Given the description of an element on the screen output the (x, y) to click on. 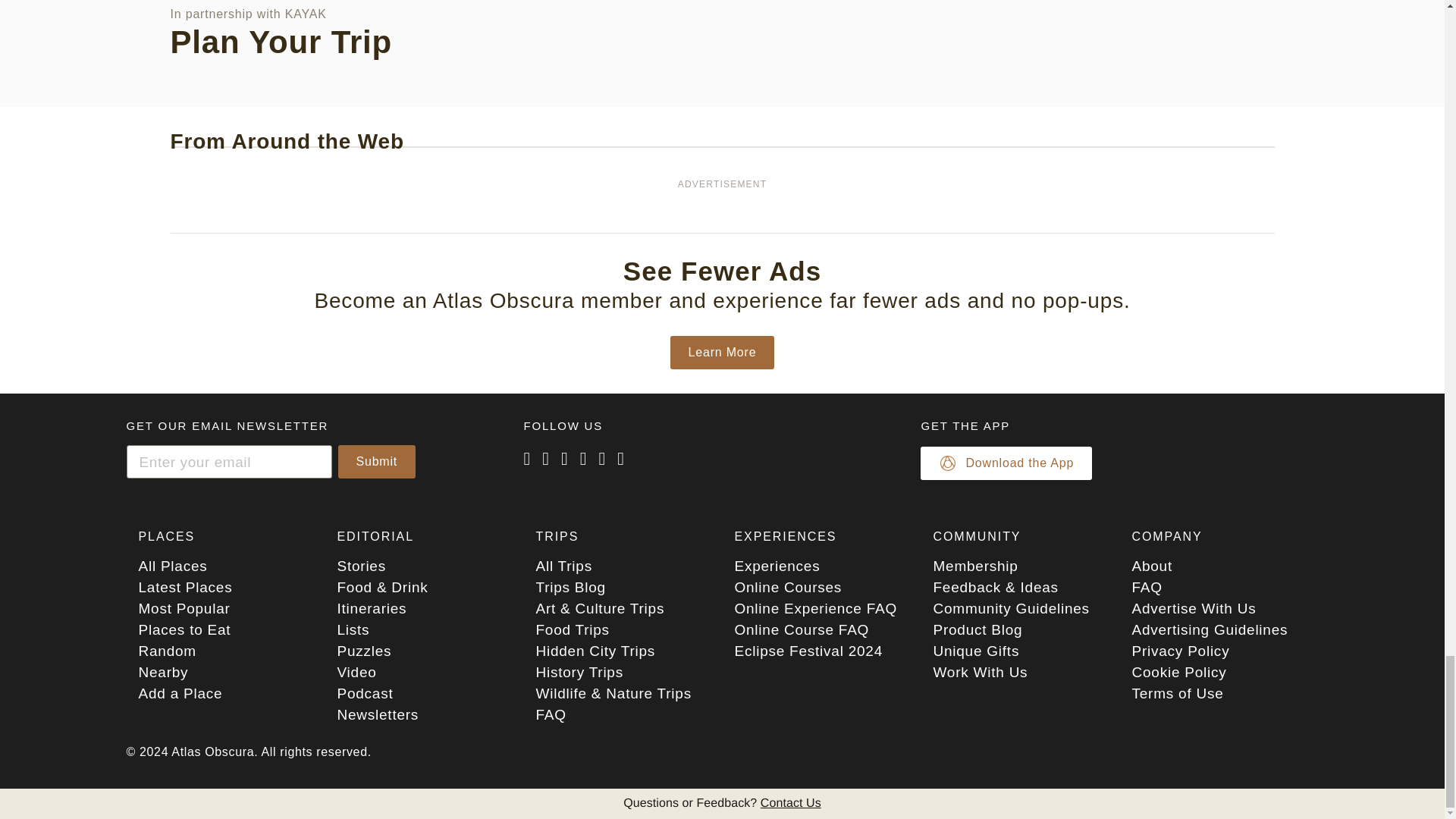
Submit (376, 461)
